Given the description of an element on the screen output the (x, y) to click on. 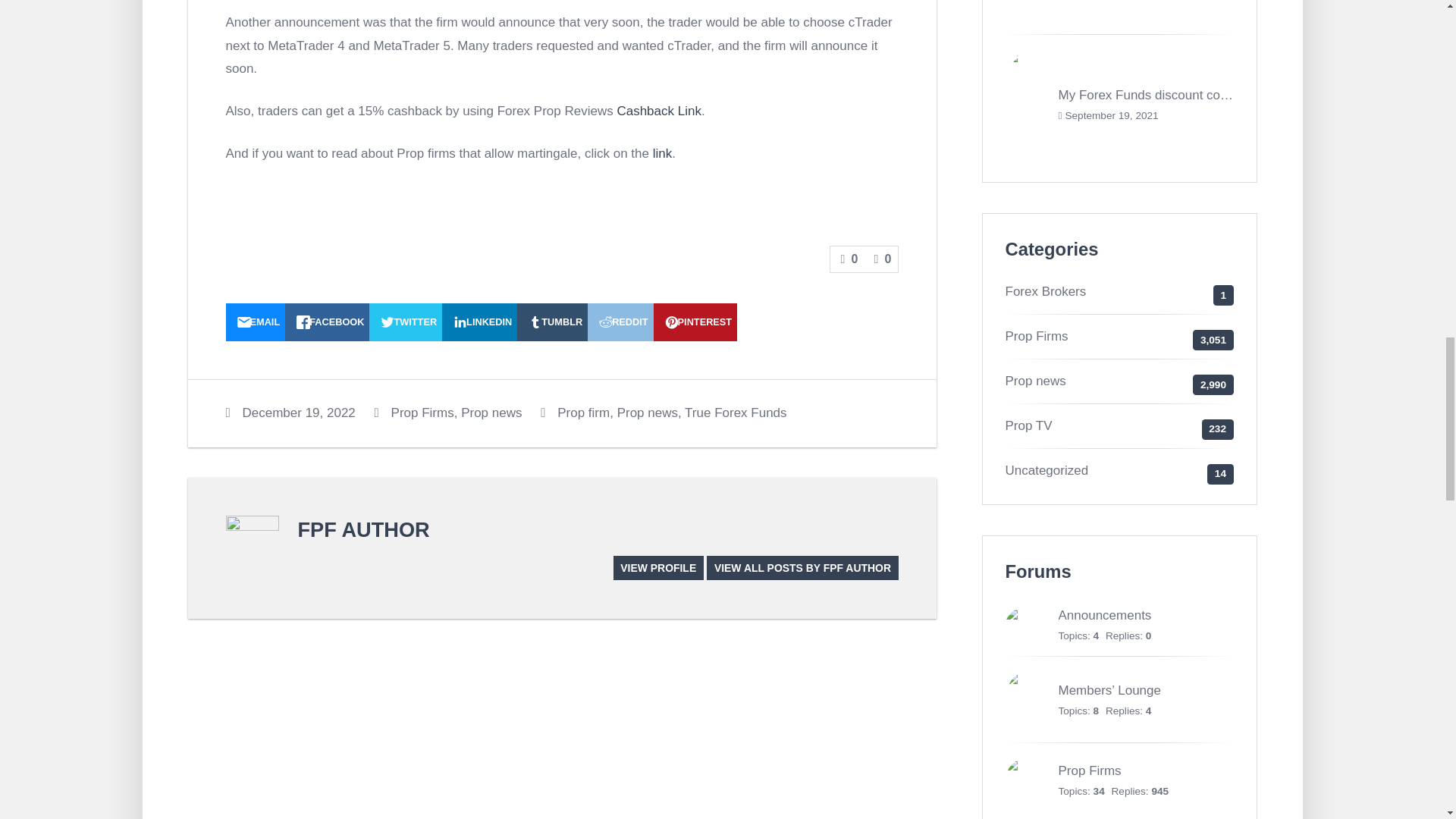
TUMBLR (552, 322)
link (662, 153)
TWITTER (405, 322)
Cashback Link (658, 110)
PINTEREST (695, 322)
FPF AUTHOR (363, 529)
EMAIL (255, 322)
Prop news (647, 412)
VIEW ALL POSTS BY FPF AUTHOR (802, 567)
Prop news (491, 412)
